Given the description of an element on the screen output the (x, y) to click on. 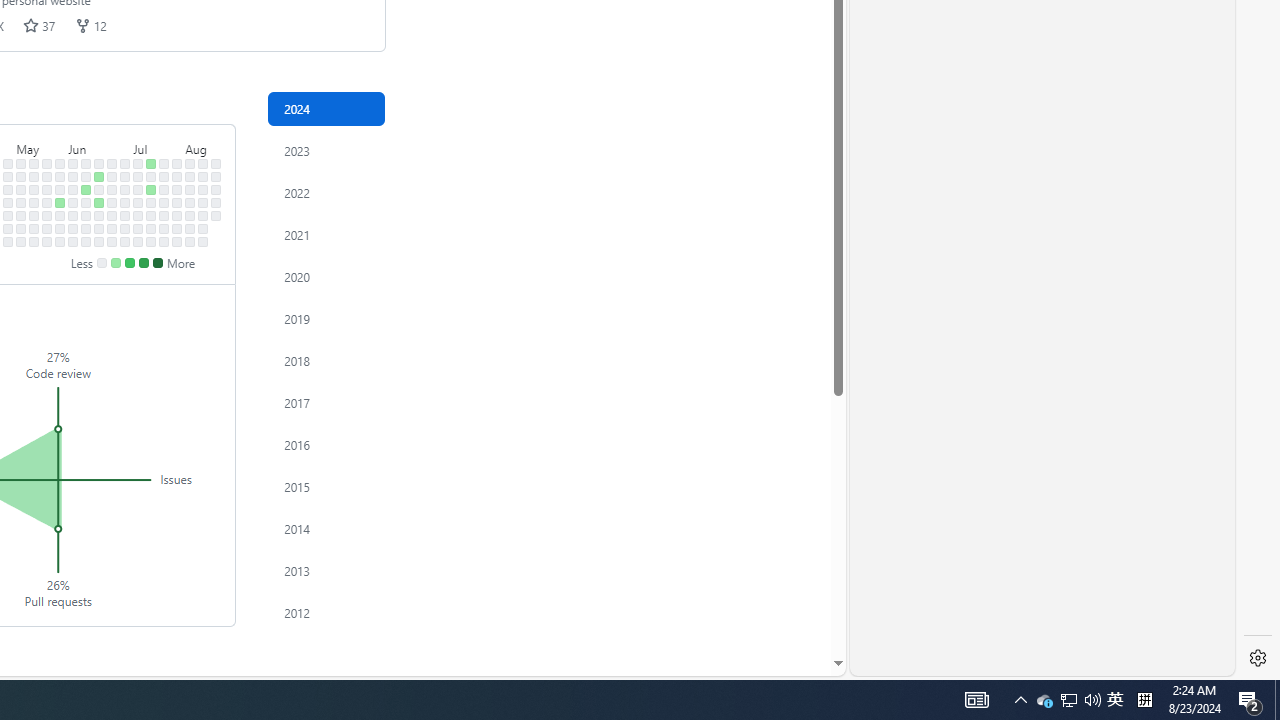
stars (31, 25)
No contributions on July 6th. (125, 241)
No contributions on May 10th. (20, 228)
No contributions on June 28th. (112, 228)
No contributions on May 23rd. (47, 215)
Contribution activity in 2024 (326, 107)
No contributions on May 12th. (34, 163)
No contributions on May 24th. (47, 228)
No contributions on August 2nd. (177, 228)
June (98, 145)
No contributions on June 23rd. (112, 163)
Contribution activity in 2015 (326, 485)
No contributions on May 30th. (60, 215)
No contributions on June 20th. (98, 215)
